Given the description of an element on the screen output the (x, y) to click on. 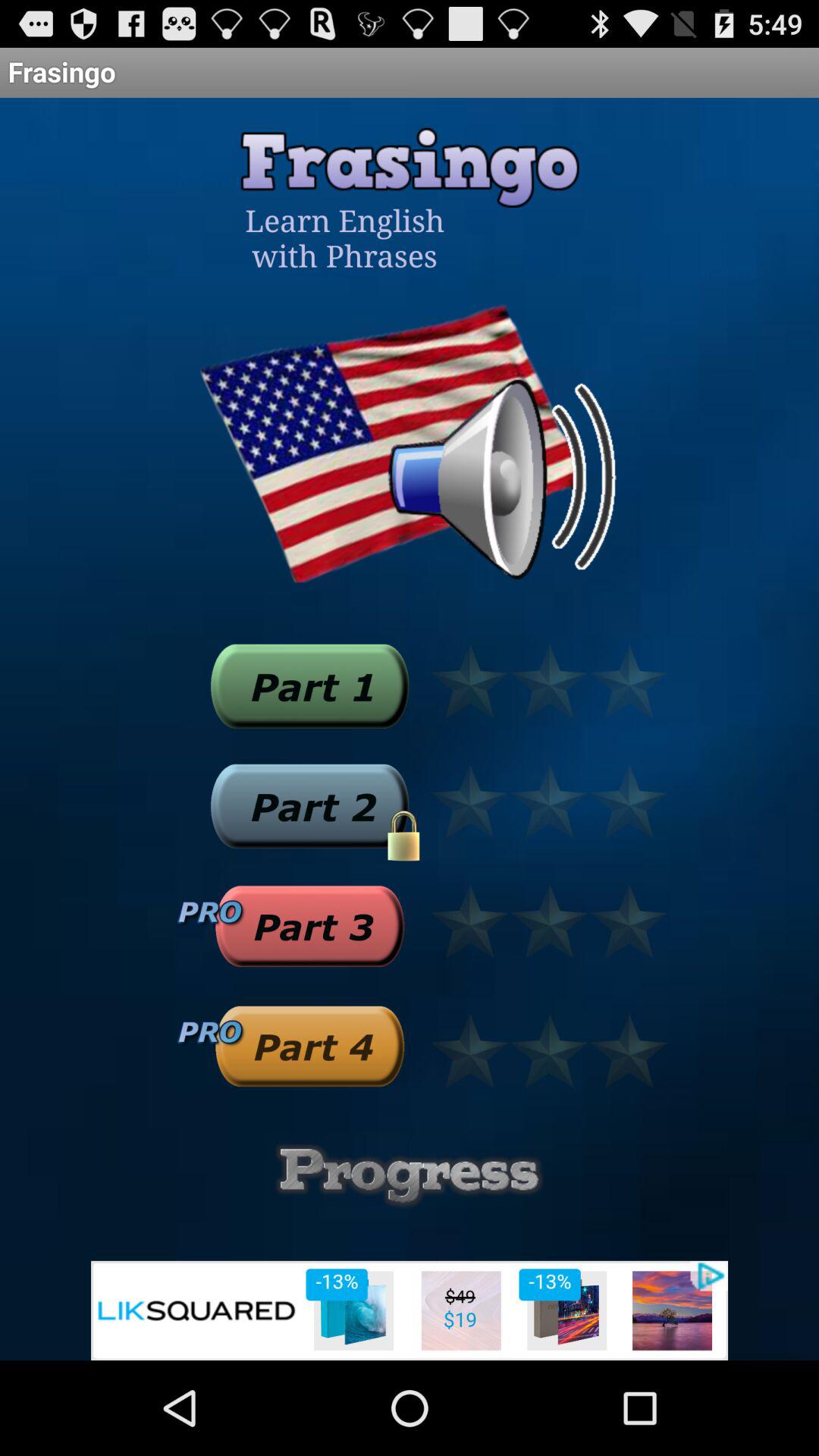
adverts display (409, 1310)
